Given the description of an element on the screen output the (x, y) to click on. 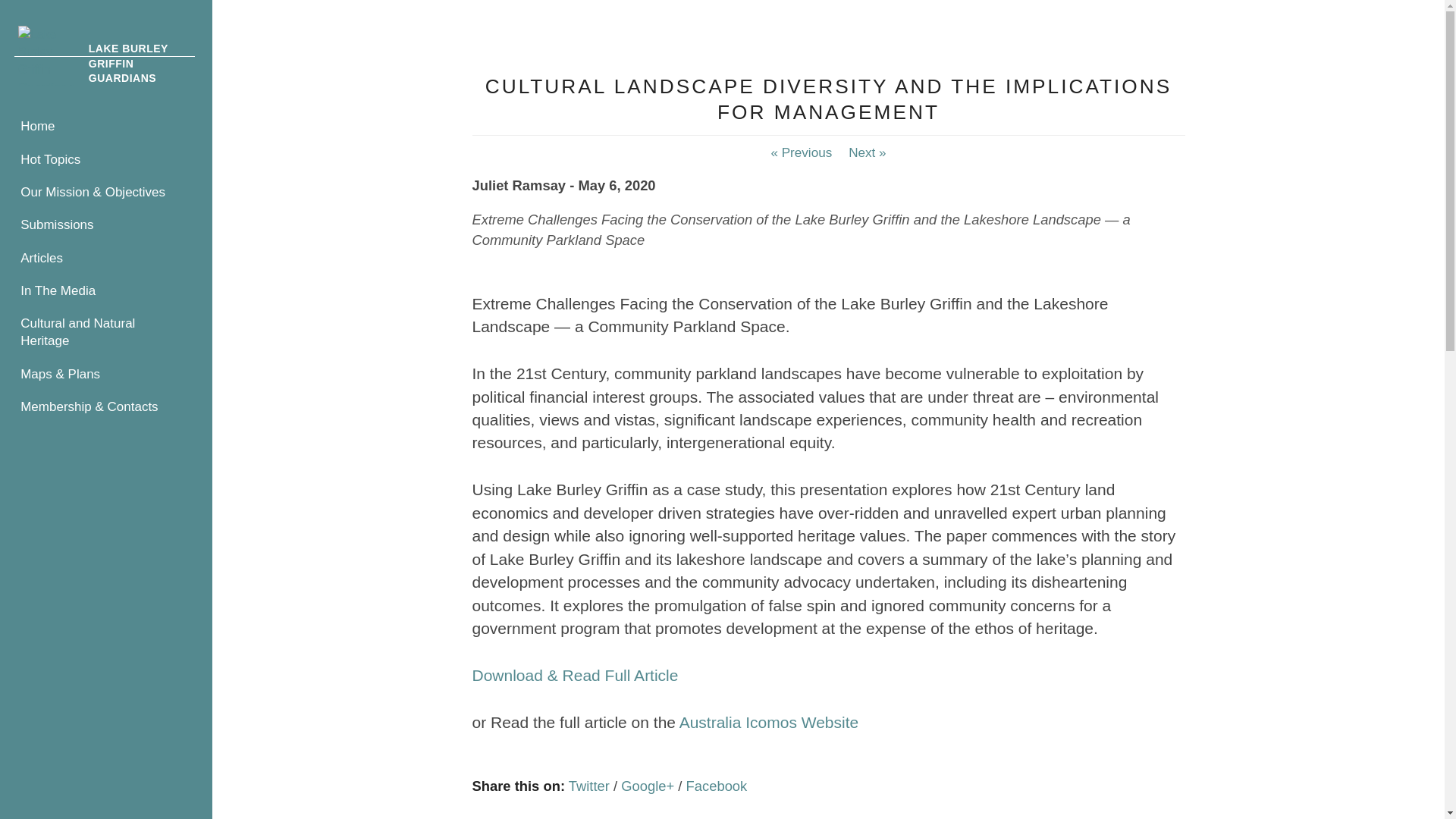
Cultural and Natural Heritage (106, 332)
In The Media (106, 291)
Facebook (716, 785)
Submissions (106, 225)
Home (106, 126)
Australia Icomos Website (769, 722)
Twitter (589, 785)
Articles (106, 258)
Hot Topics (106, 159)
